Given the description of an element on the screen output the (x, y) to click on. 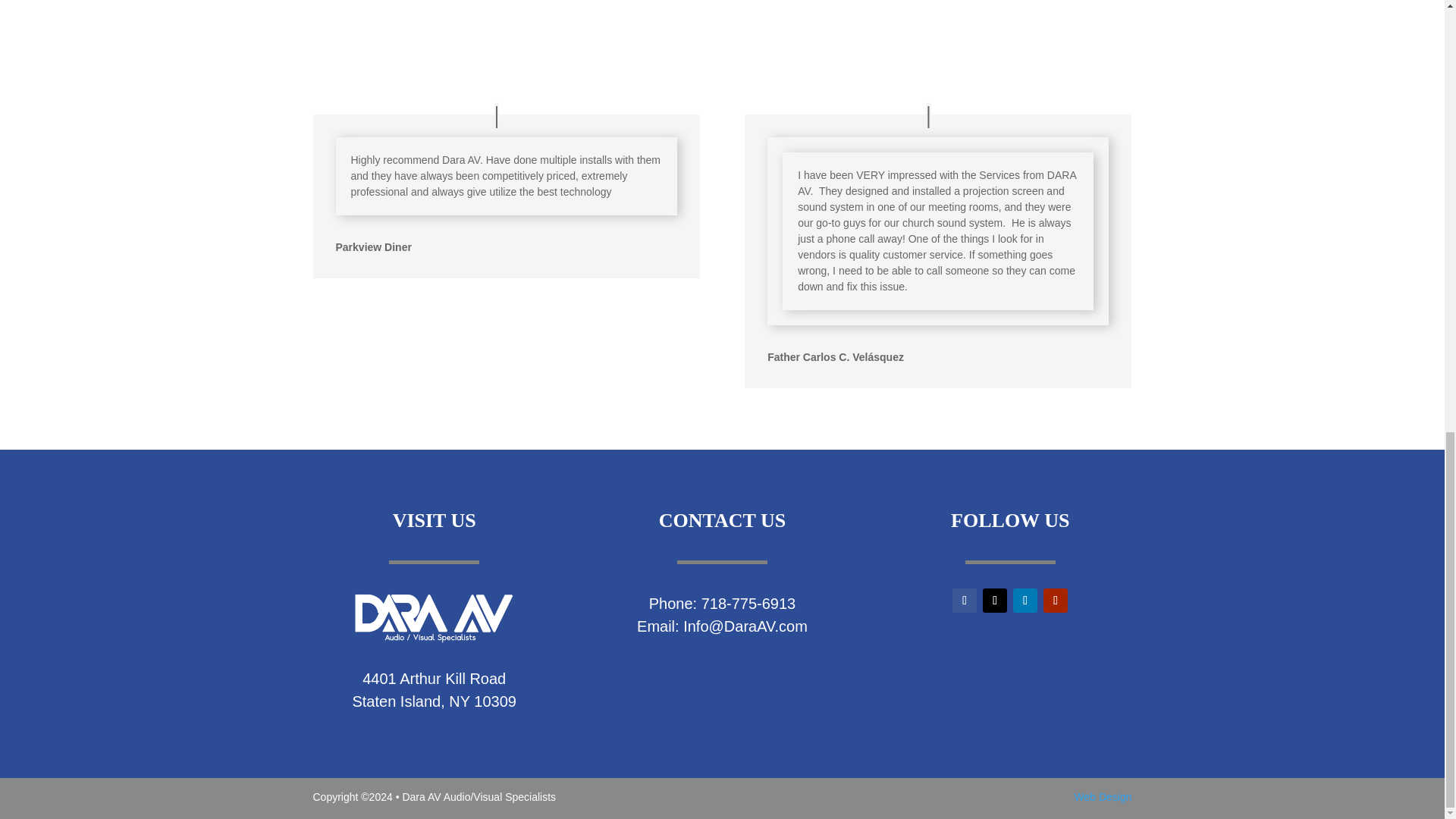
Follow on Youtube (1055, 600)
Web Design (1102, 797)
Web Design (1102, 797)
Follow on Facebook (964, 600)
Follow on X (994, 600)
Follow on LinkedIn (1024, 600)
